Given the description of an element on the screen output the (x, y) to click on. 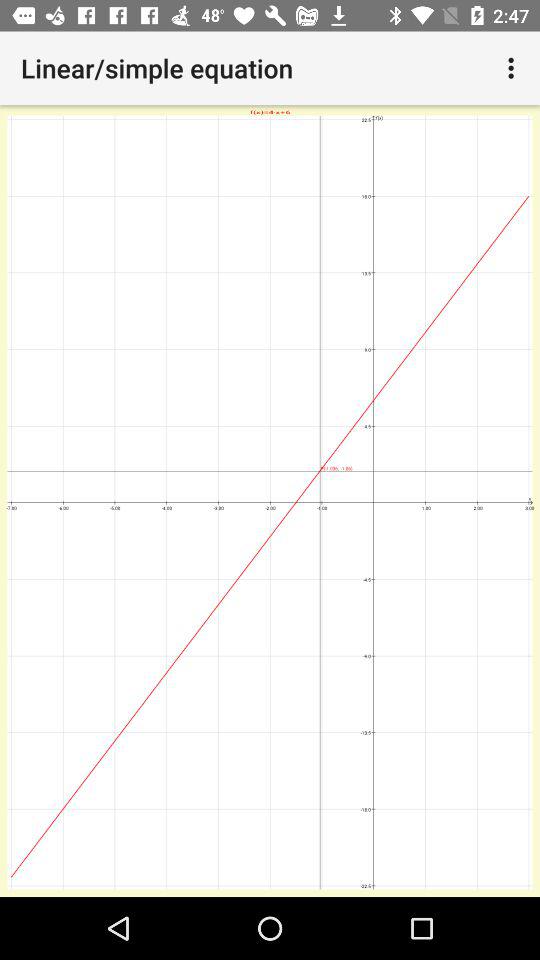
select the item to the right of linear/simple equation (513, 67)
